Given the description of an element on the screen output the (x, y) to click on. 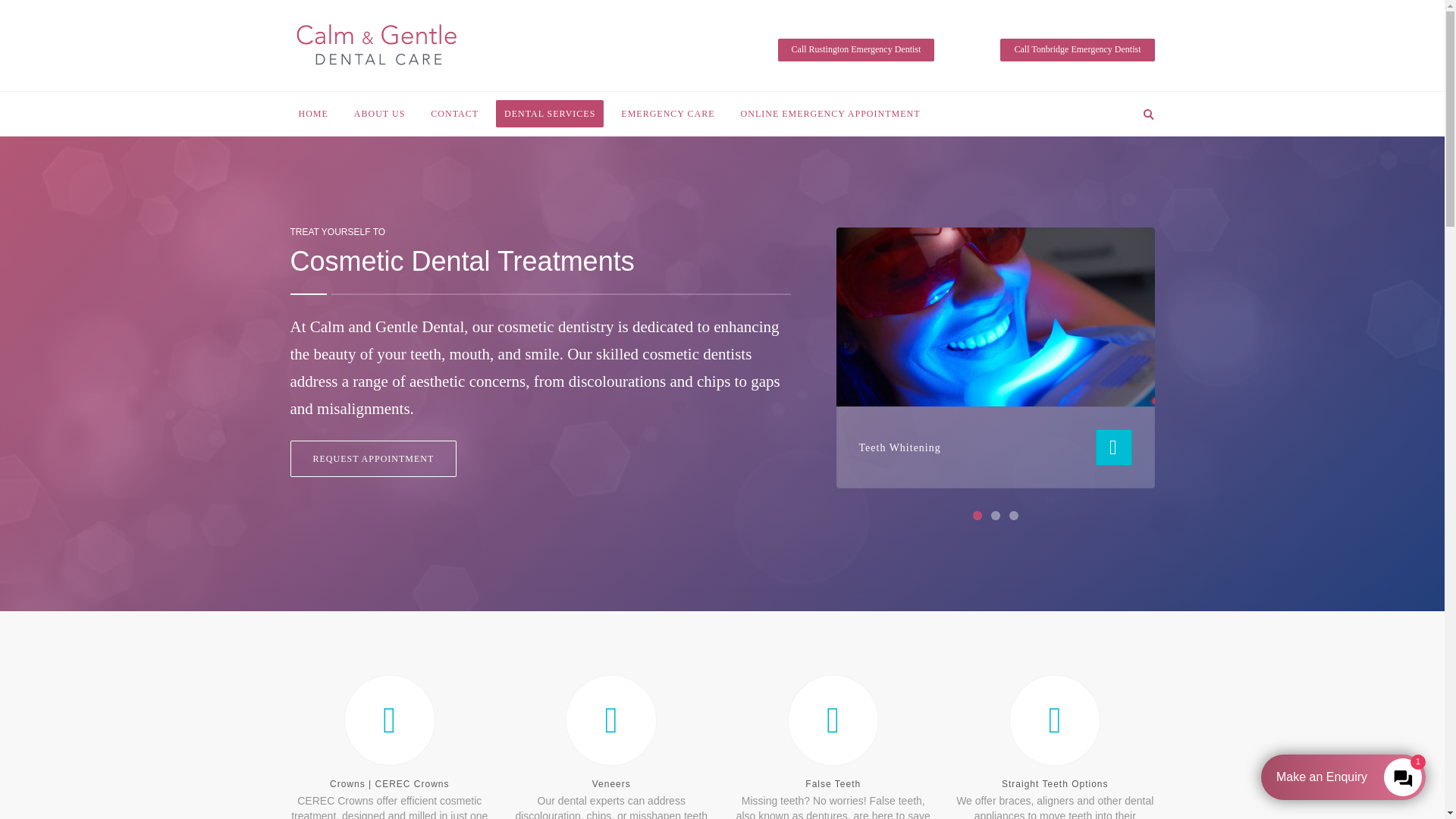
HOME (312, 113)
Teeth Whitening (899, 447)
Call Rustington Emergency Dentist (855, 49)
CONTACT (454, 113)
Call Tonbridge Emergency Dentist (1077, 49)
ABOUT US (379, 113)
DENTAL SERVICES (550, 113)
